Given the description of an element on the screen output the (x, y) to click on. 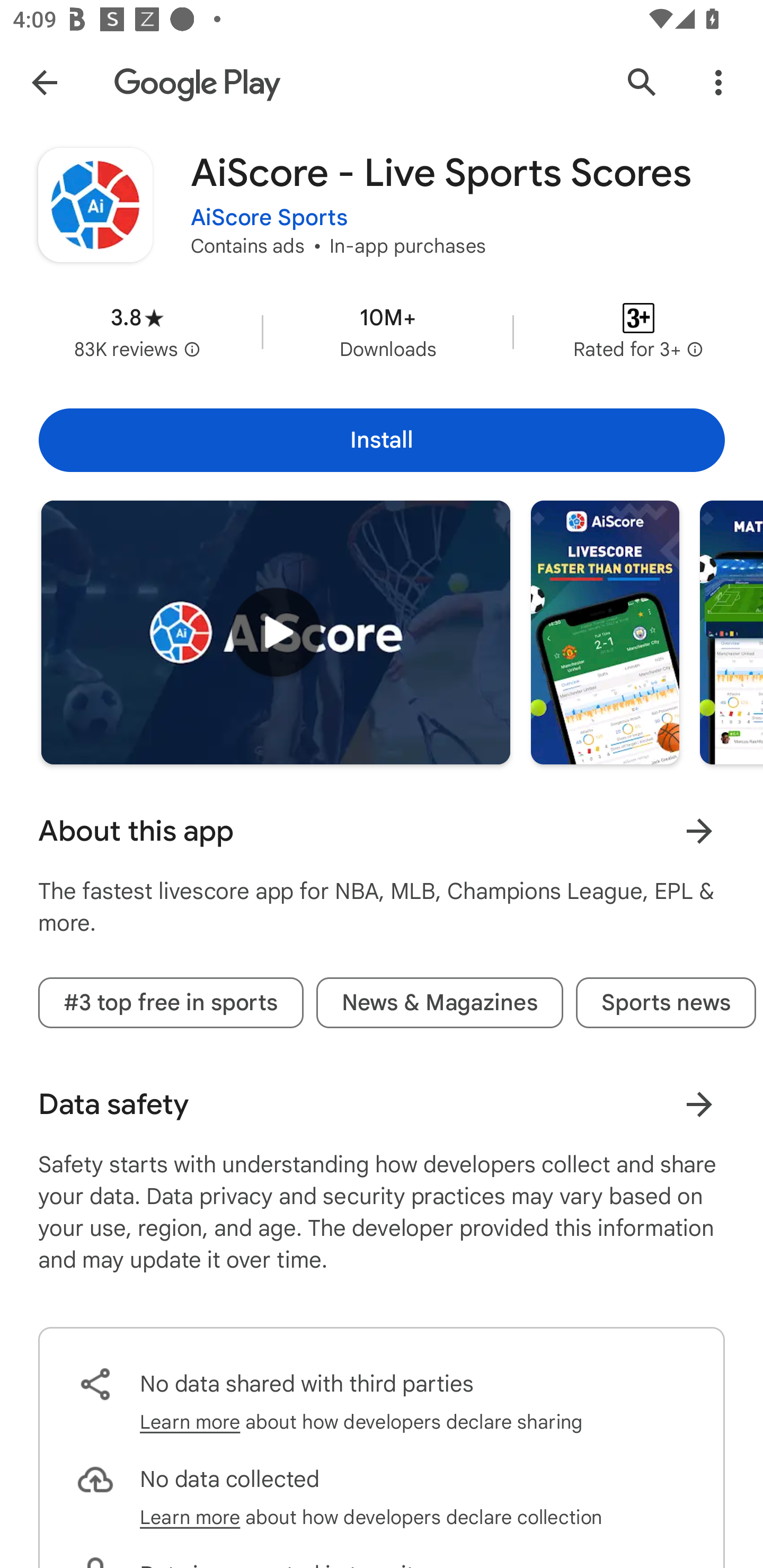
Navigate up (44, 81)
Search Google Play (642, 81)
More Options (718, 81)
AiScore Sports (268, 217)
Average rating 3.8 stars in 83 thousand reviews (137, 331)
Content rating Rated for 3+ (638, 331)
Install (381, 439)
Play trailer for "AiScore - Live Sports Scores" (275, 632)
Screenshot "1" of "8" (605, 632)
About this app Learn more About this app (381, 830)
Learn more About this app (699, 830)
#3 top free in sports tag (170, 1002)
News & Magazines tag (439, 1002)
Sports news tag (666, 1002)
Data safety Learn more about data safety (381, 1104)
Learn more about data safety (699, 1104)
